Given the description of an element on the screen output the (x, y) to click on. 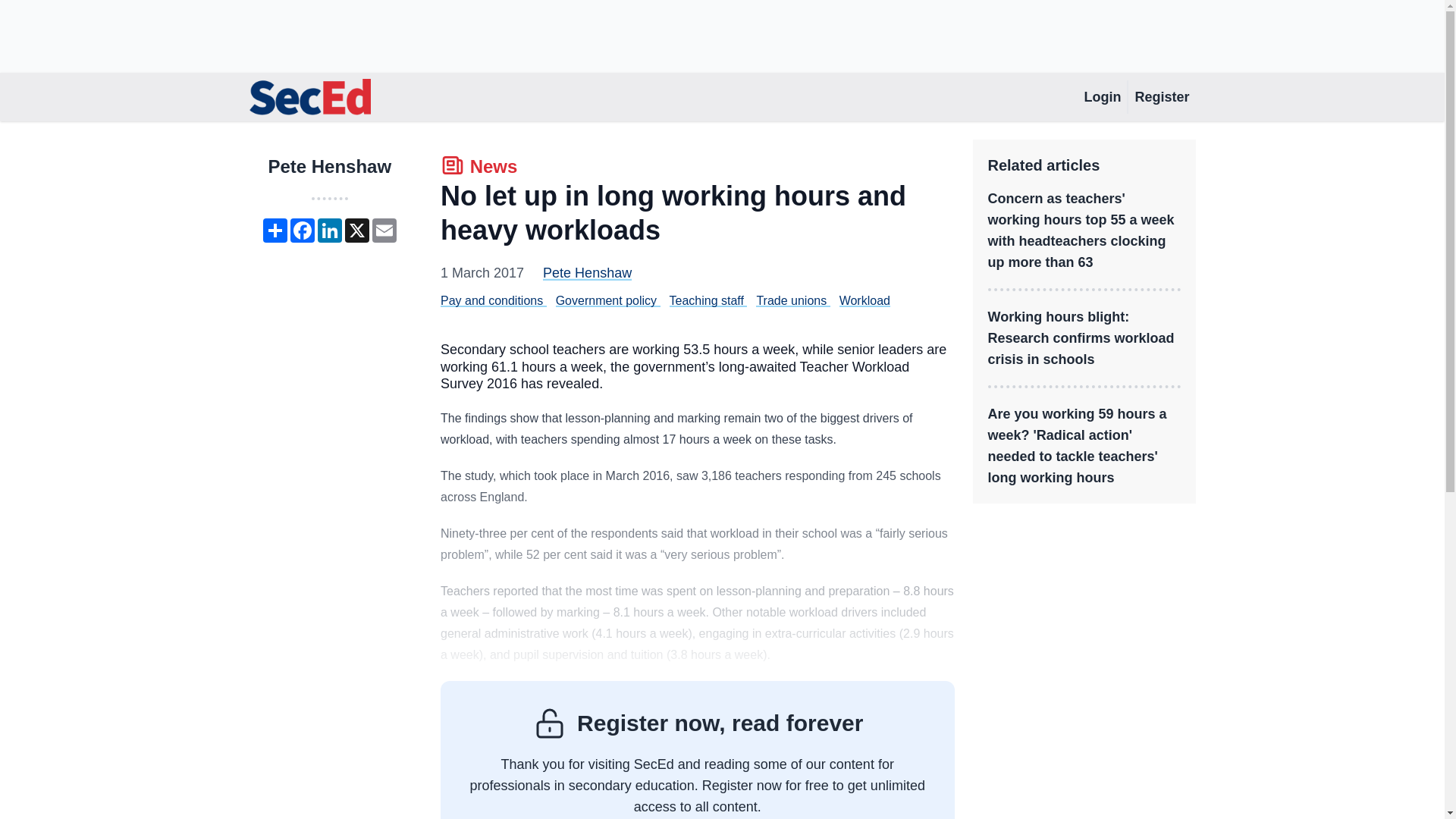
Register (1160, 96)
Pete Henshaw (587, 272)
Login (1101, 96)
News (478, 168)
Pay and conditions (492, 300)
